Given the description of an element on the screen output the (x, y) to click on. 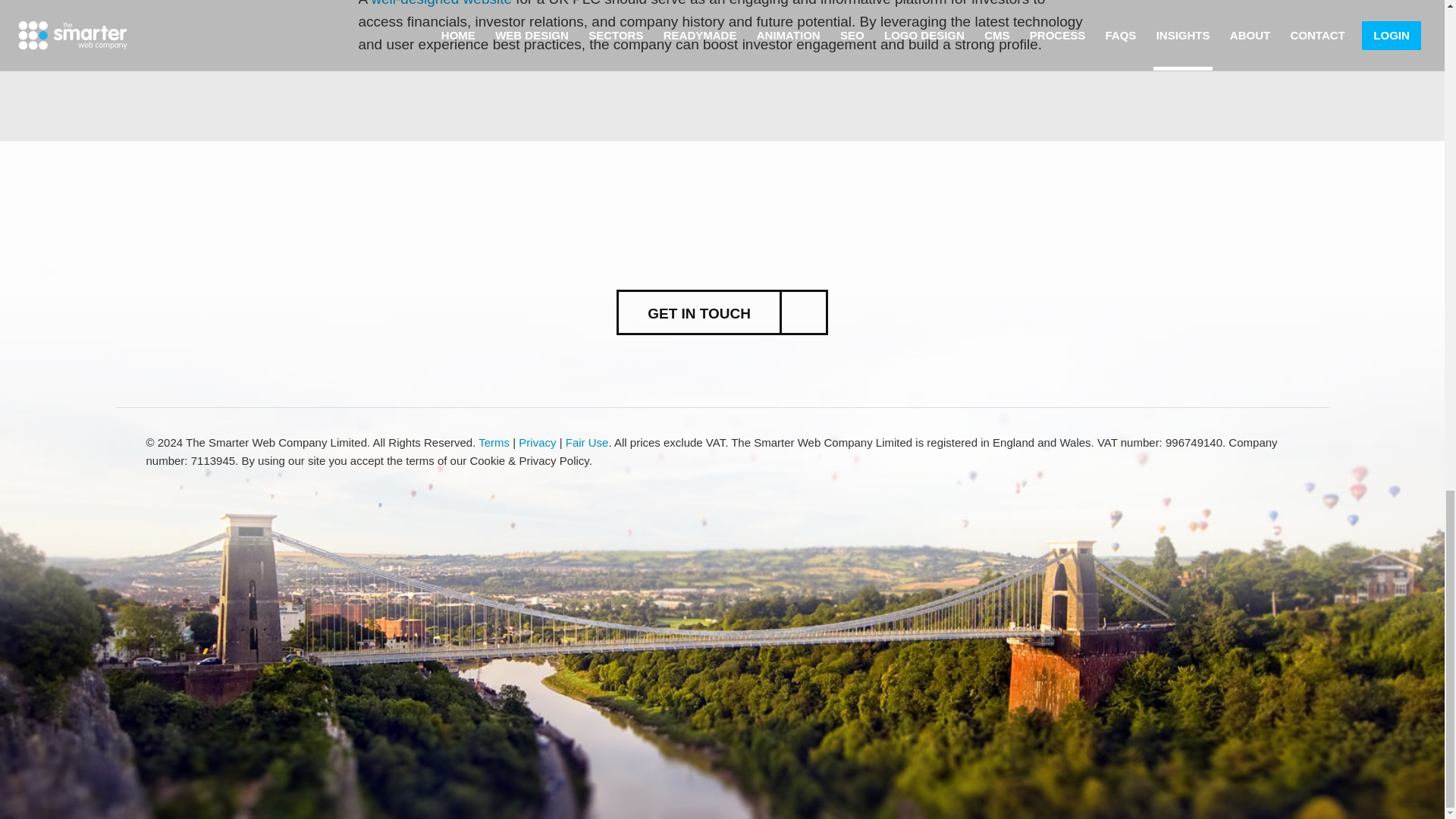
well-designed website (441, 3)
Privacy (537, 441)
Terms (494, 441)
Fair Use (587, 441)
